Given the description of an element on the screen output the (x, y) to click on. 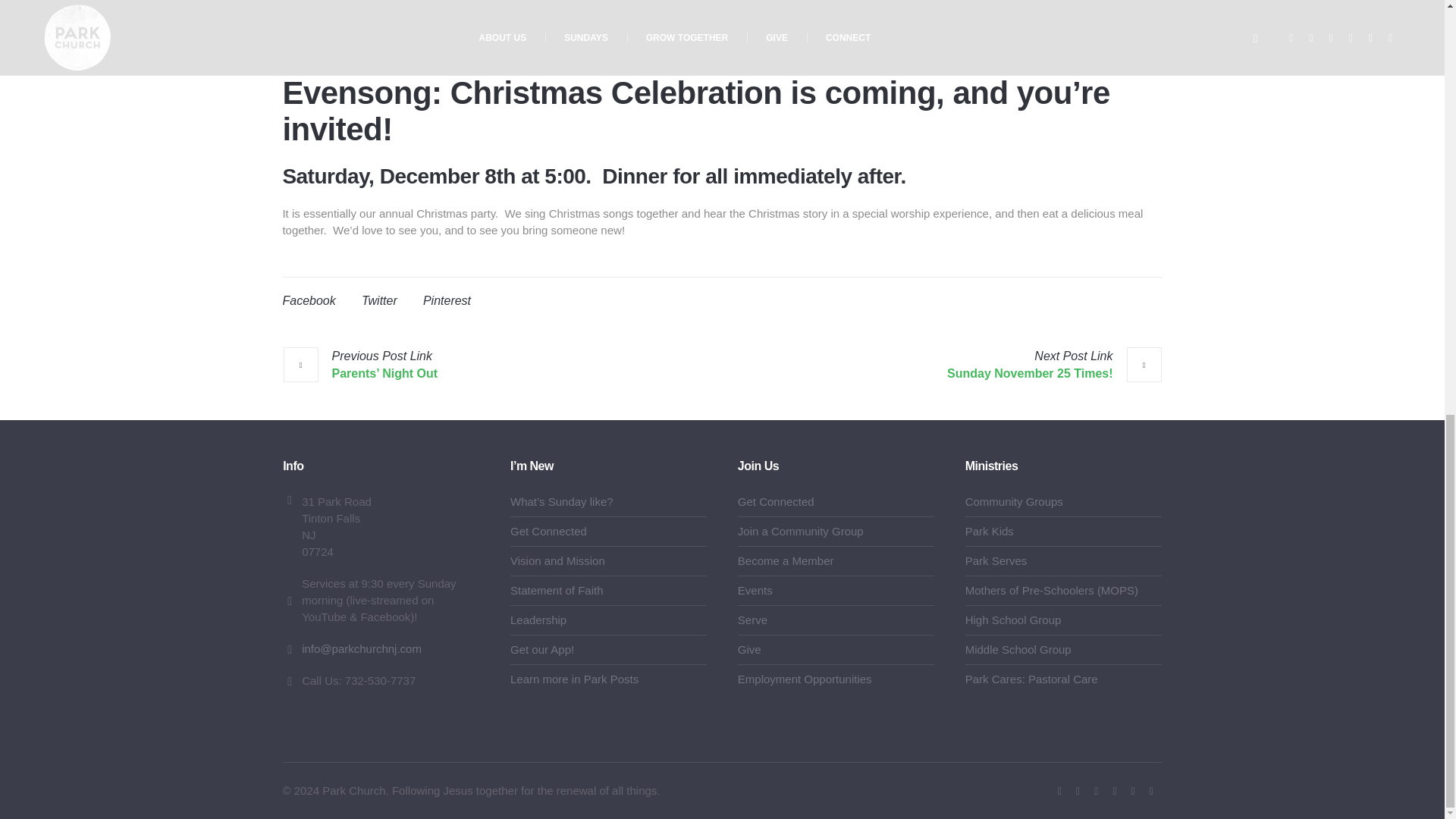
Pinterest (446, 300)
Twitter (1096, 791)
Get Connected (548, 530)
YouTube (1078, 791)
Vision and Mission (558, 560)
Evensong: Christmas Celebration (721, 28)
Get our App! (542, 649)
Facebook (308, 300)
Facebook (1059, 791)
Sunday November 25 Times! (1054, 364)
Statement of Faith (557, 590)
Leadership (538, 619)
Twitter (379, 300)
